Given the description of an element on the screen output the (x, y) to click on. 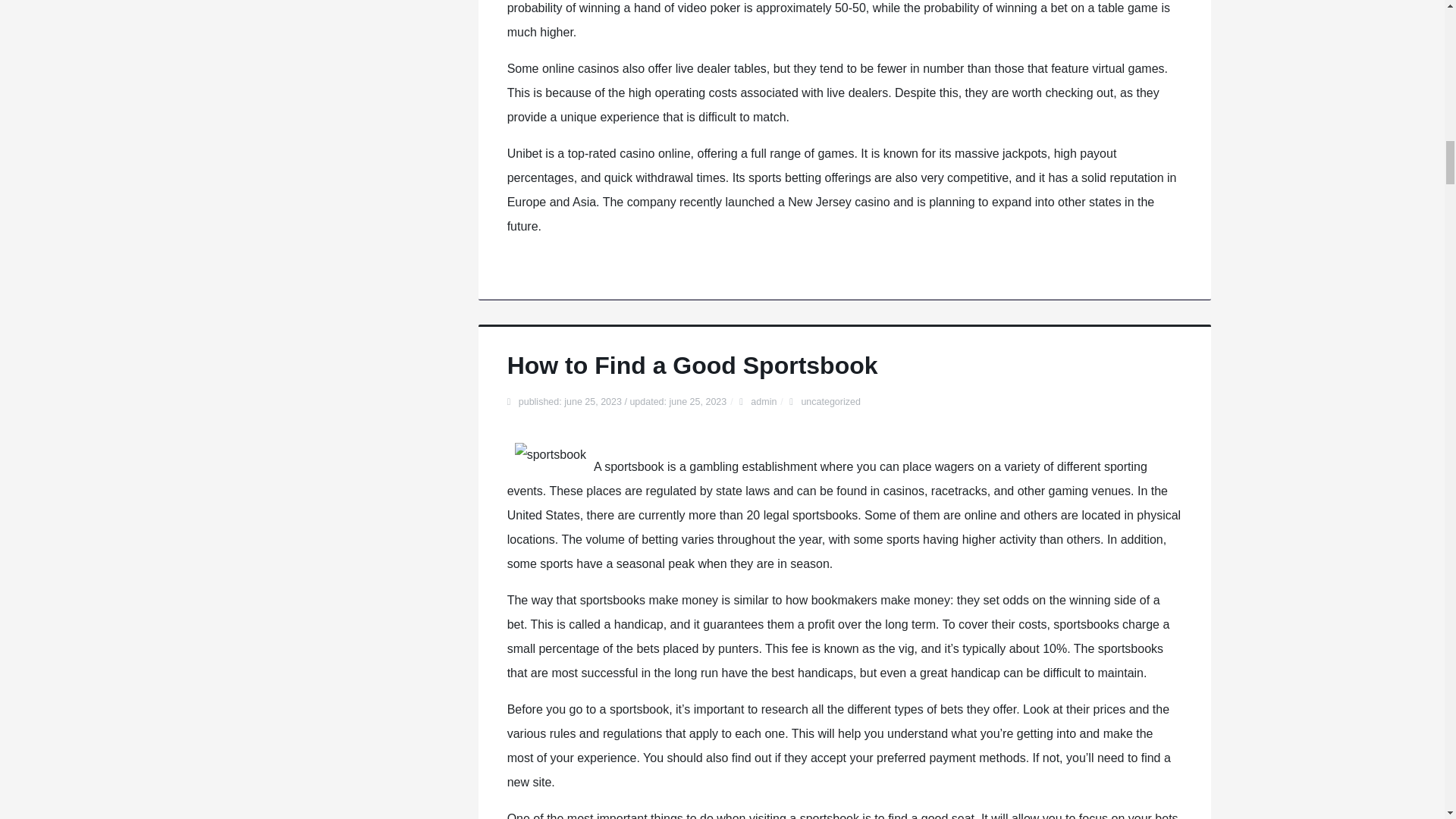
uncategorized (830, 401)
admin (763, 401)
How to Find a Good Sportsbook (691, 365)
